Given the description of an element on the screen output the (x, y) to click on. 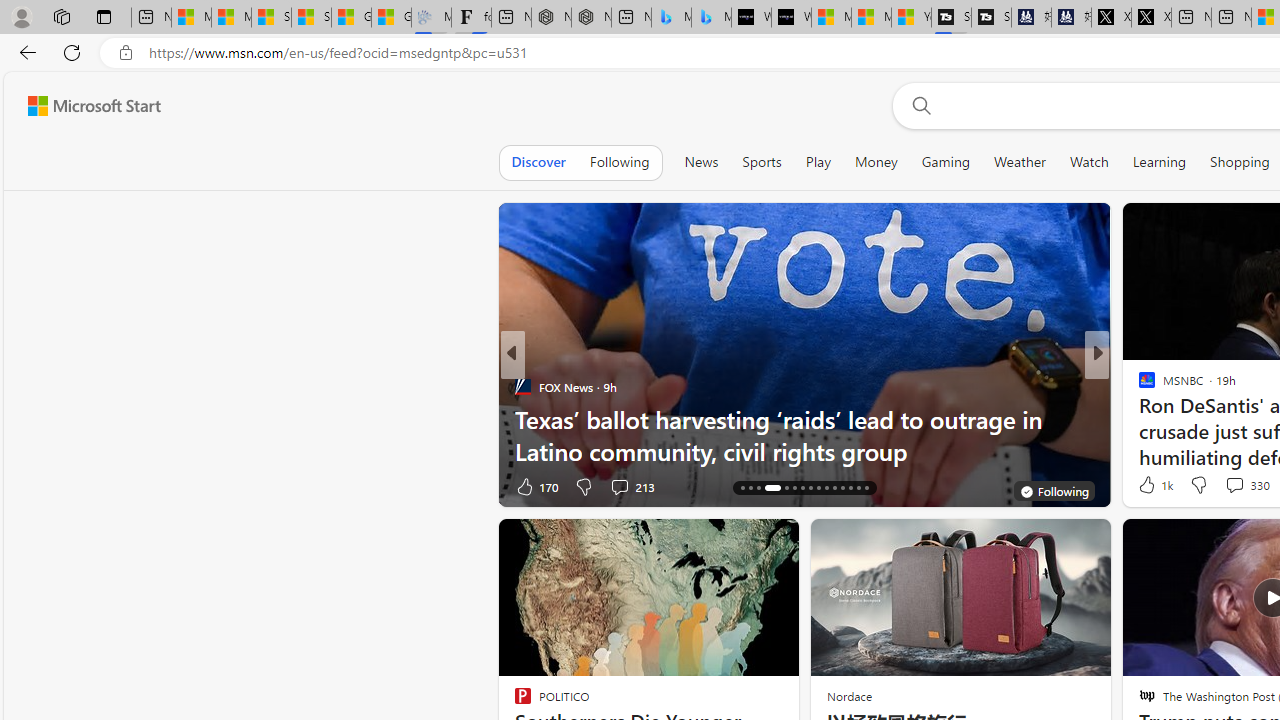
44 Like (1149, 486)
View comments 1 Comment (1234, 486)
AutomationID: tab-20 (786, 487)
View comments 266 Comment (1247, 486)
Streaming Coverage | T3 (951, 17)
Skip to footer (82, 105)
Microsoft Bing Travel - Stays in Bangkok, Bangkok, Thailand (671, 17)
